Given the description of an element on the screen output the (x, y) to click on. 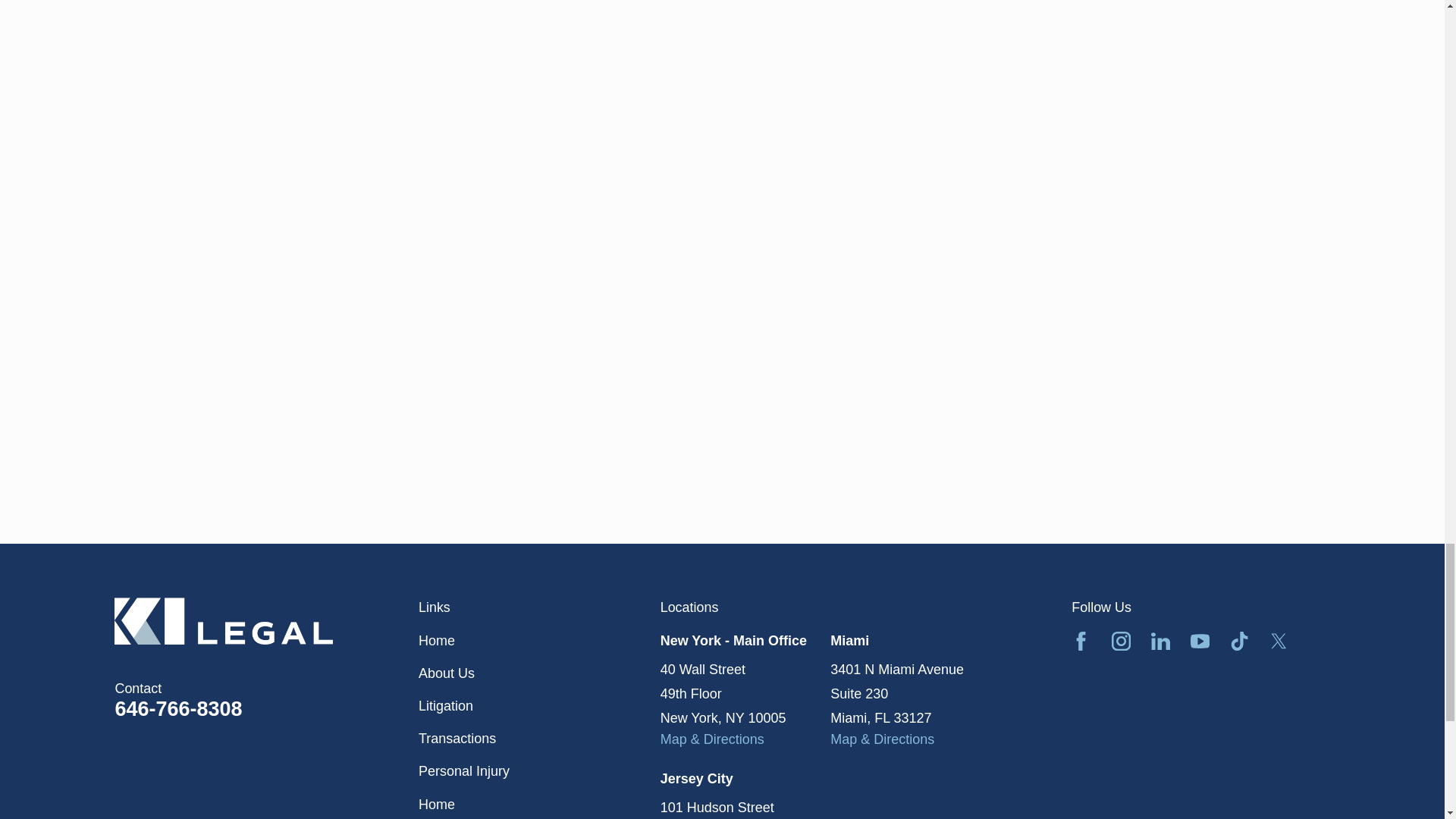
Instagram (1121, 640)
Facebook (1080, 640)
Home (267, 620)
KI Legal (224, 620)
